Given the description of an element on the screen output the (x, y) to click on. 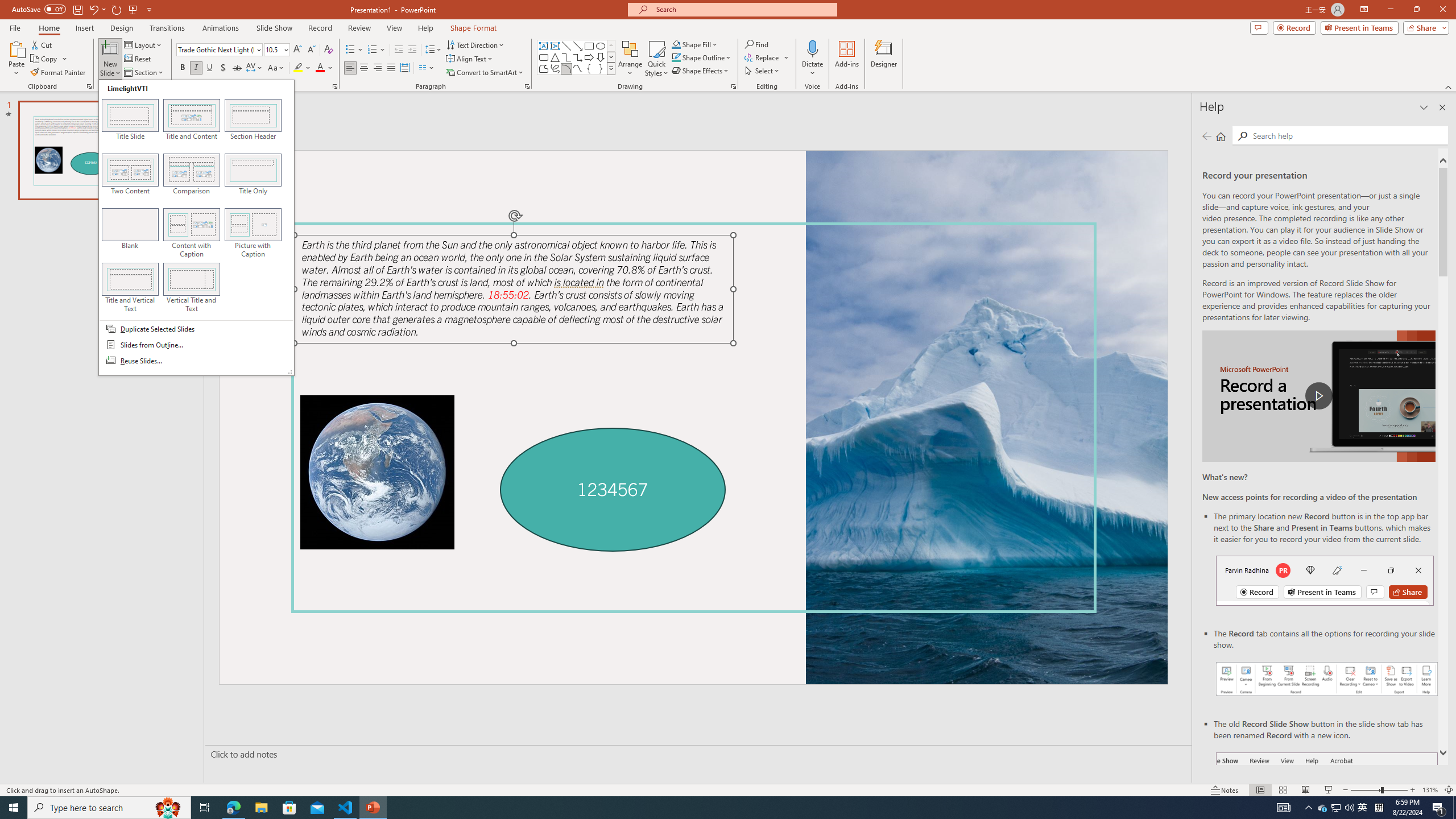
Zoom 131% (1430, 790)
Shape Fill Aqua, Accent 2 (1322, 807)
